Given the description of an element on the screen output the (x, y) to click on. 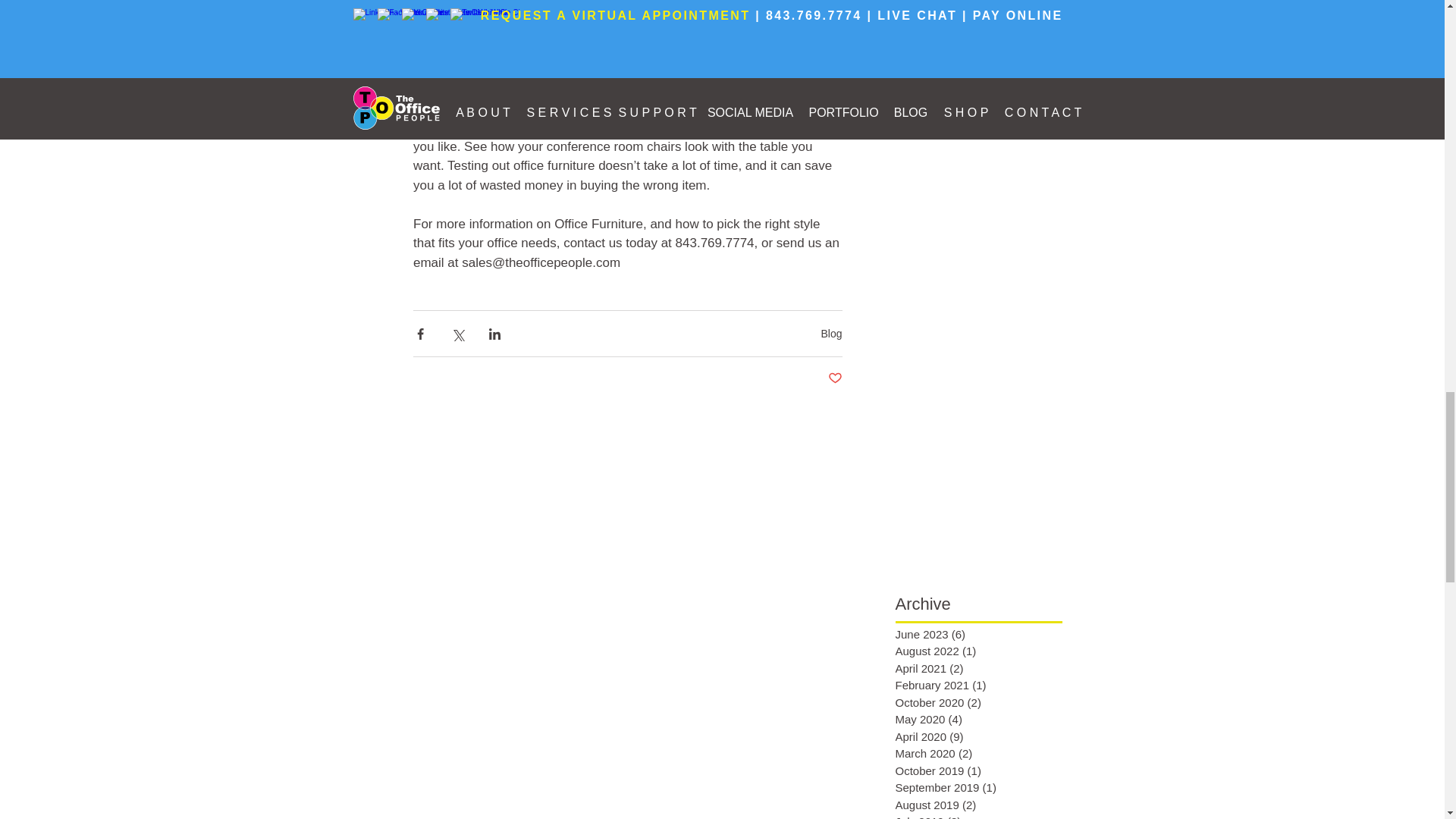
Blog (831, 333)
